Given the description of an element on the screen output the (x, y) to click on. 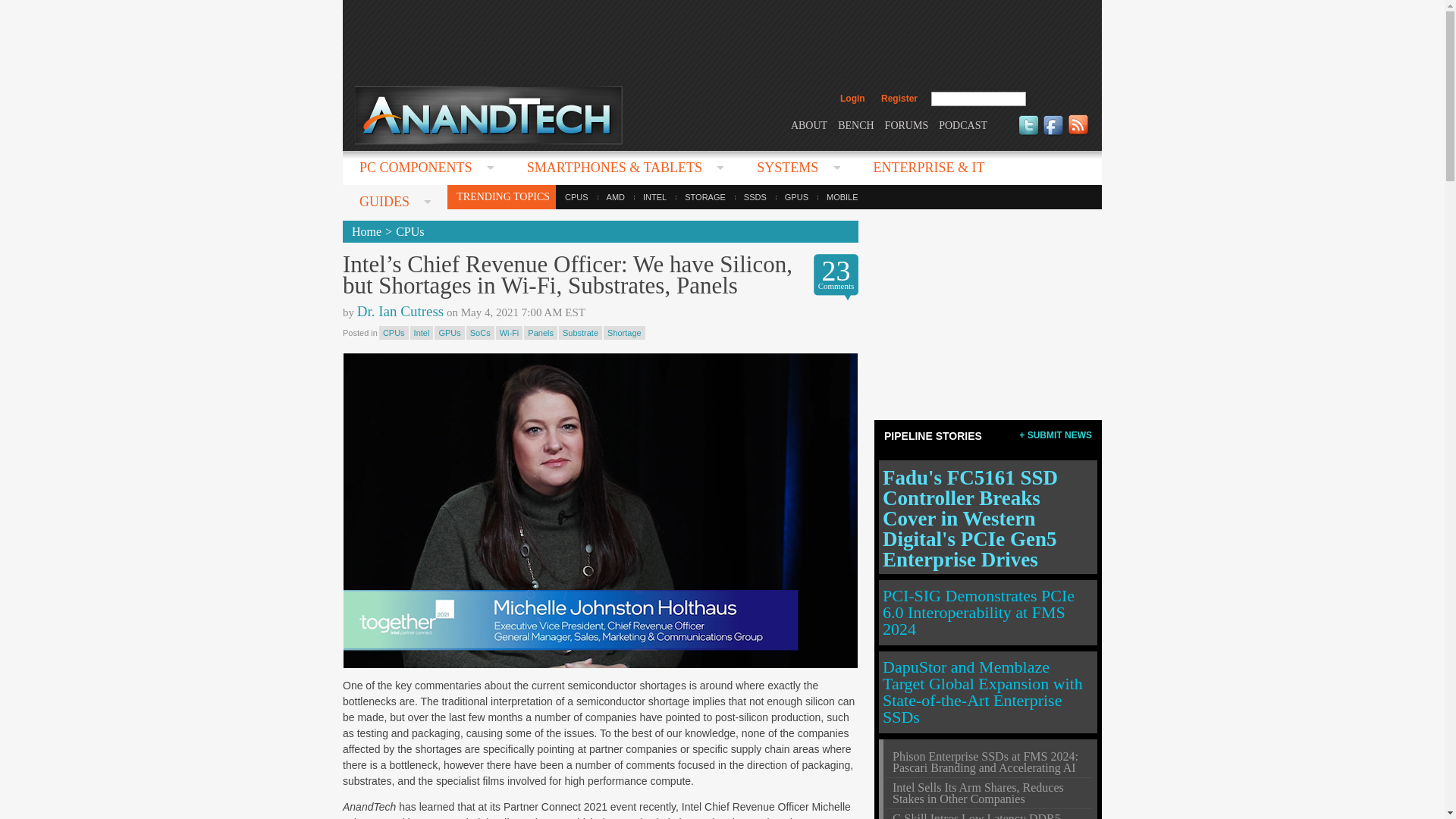
PODCAST (963, 125)
FORUMS (906, 125)
BENCH (855, 125)
Register (898, 98)
Login (852, 98)
search (1059, 98)
search (1059, 98)
search (1059, 98)
ABOUT (808, 125)
